Given the description of an element on the screen output the (x, y) to click on. 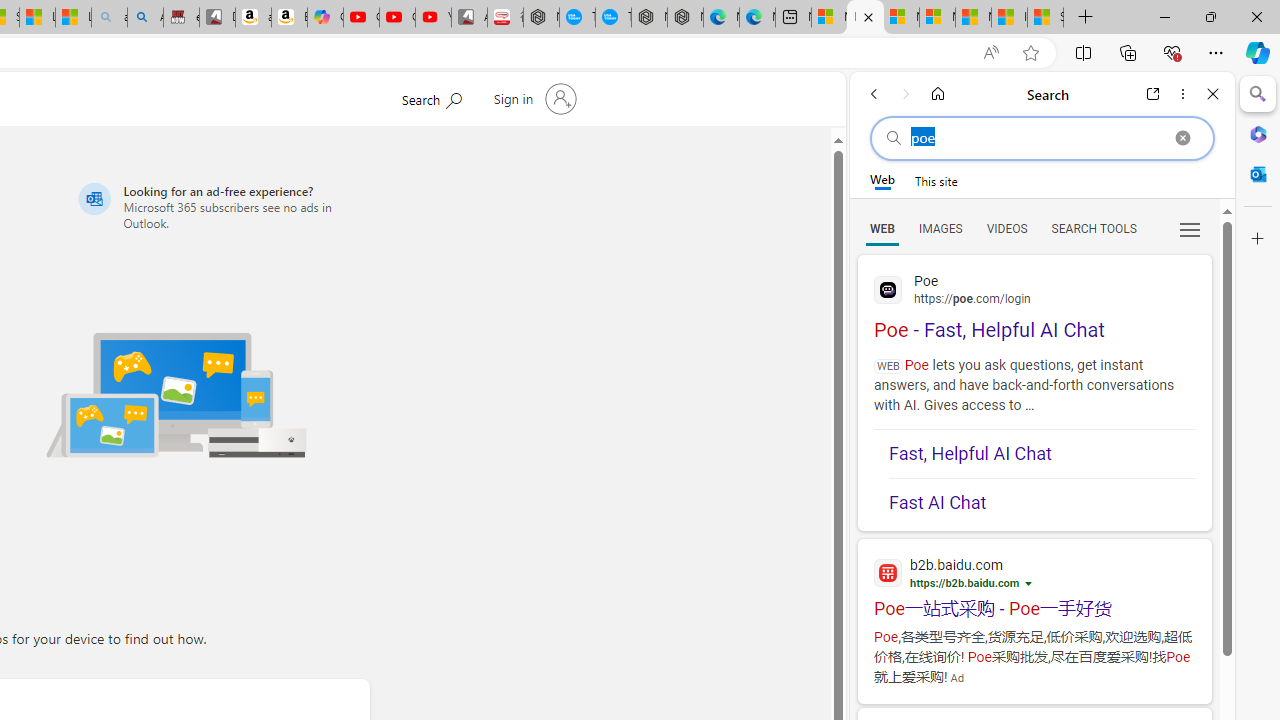
Sign in to your account (532, 98)
Search Filter, WEB (882, 228)
WEB   (882, 228)
Poe - Fast, Helpful AI Chat (1034, 304)
Fast AI Chat (1042, 502)
amazon - Search - Sleeping (109, 17)
Microsoft Start (973, 17)
Web scope (882, 180)
Nordace - My Account (541, 17)
